Given the description of an element on the screen output the (x, y) to click on. 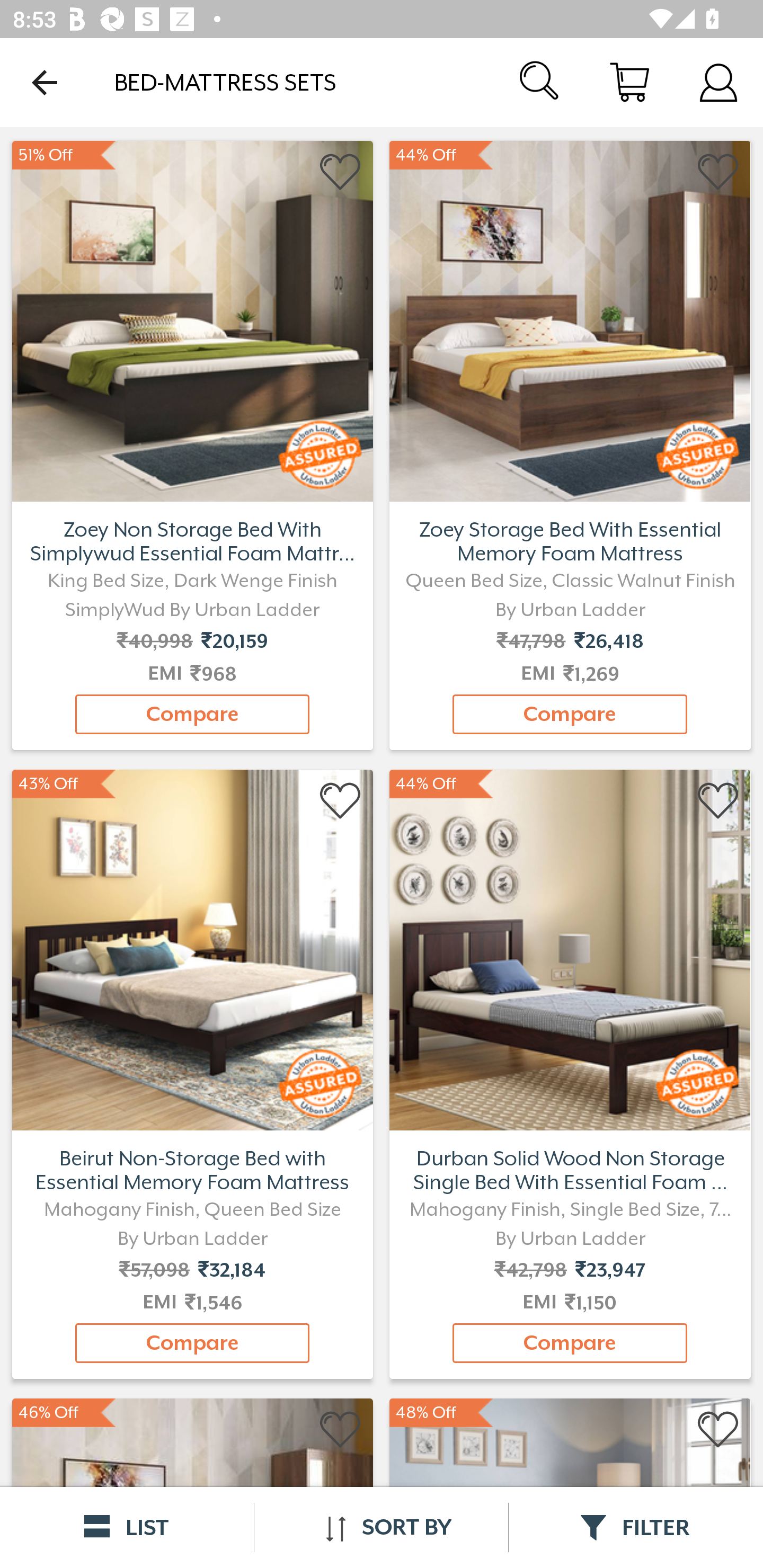
Navigate up (44, 82)
Search (540, 81)
Cart (629, 81)
Account Details (718, 81)
649+ options All Beds Starting from  ₹5,864 (191, 318)
UL Assured Beds (570, 318)
 (341, 172)
 (718, 172)
Compare (192, 713)
Compare (569, 713)
 (341, 800)
 (718, 800)
Compare (192, 1342)
Compare (569, 1342)
 (341, 1429)
 (718, 1429)
 LIST (127, 1527)
SORT BY (381, 1527)
 FILTER (635, 1527)
